Given the description of an element on the screen output the (x, y) to click on. 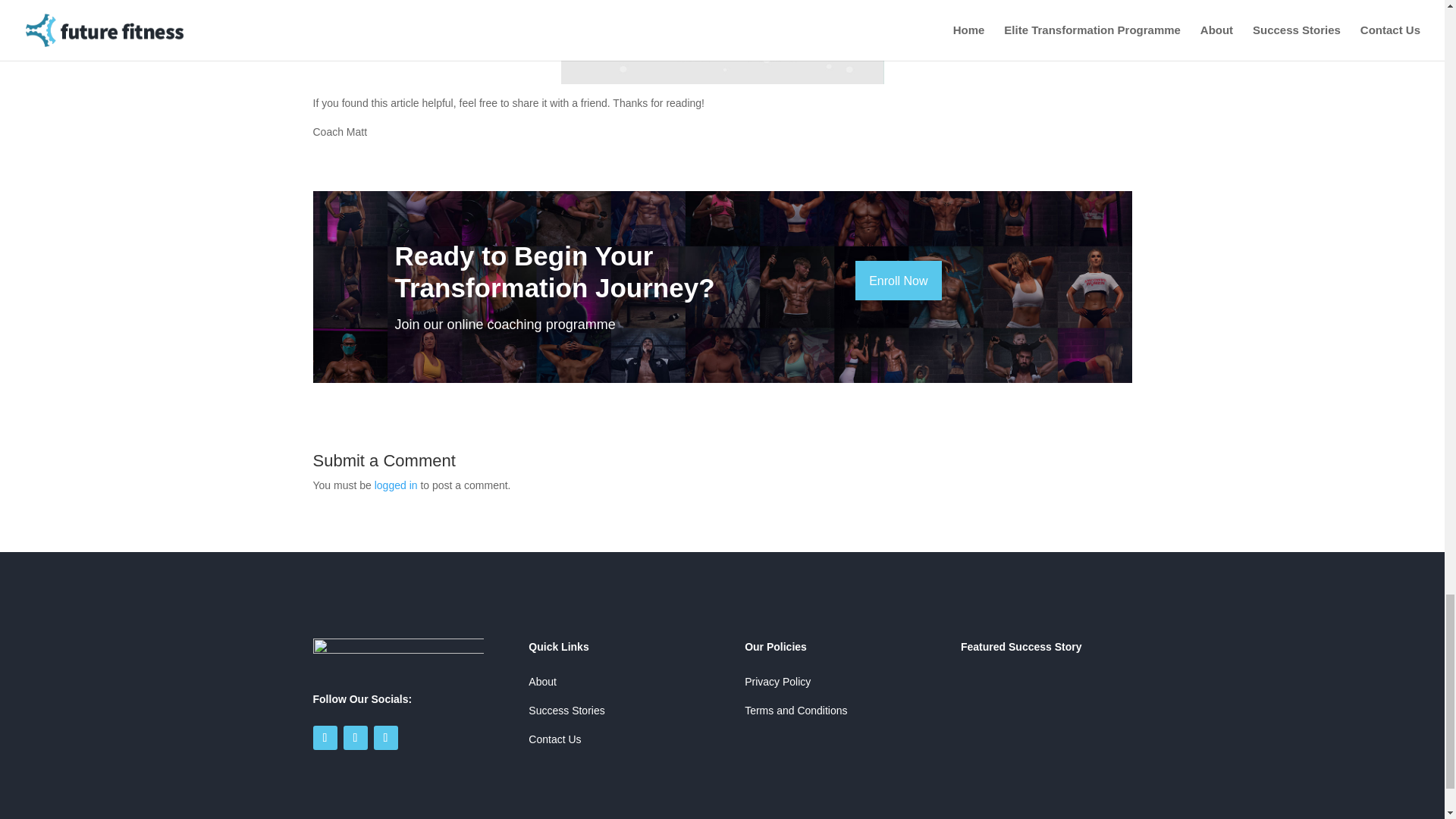
Follow on Youtube (384, 737)
Julie - Online Coaching Testimonial (1045, 721)
Enroll Now (898, 280)
Contact Us (554, 739)
Success Stories (566, 710)
Terms and Conditions (795, 710)
Privacy Policy (777, 681)
About  (543, 681)
logged in (395, 485)
main-logowhite (398, 656)
Follow on Facebook (324, 737)
Follow on Instagram (354, 737)
